Given the description of an element on the screen output the (x, y) to click on. 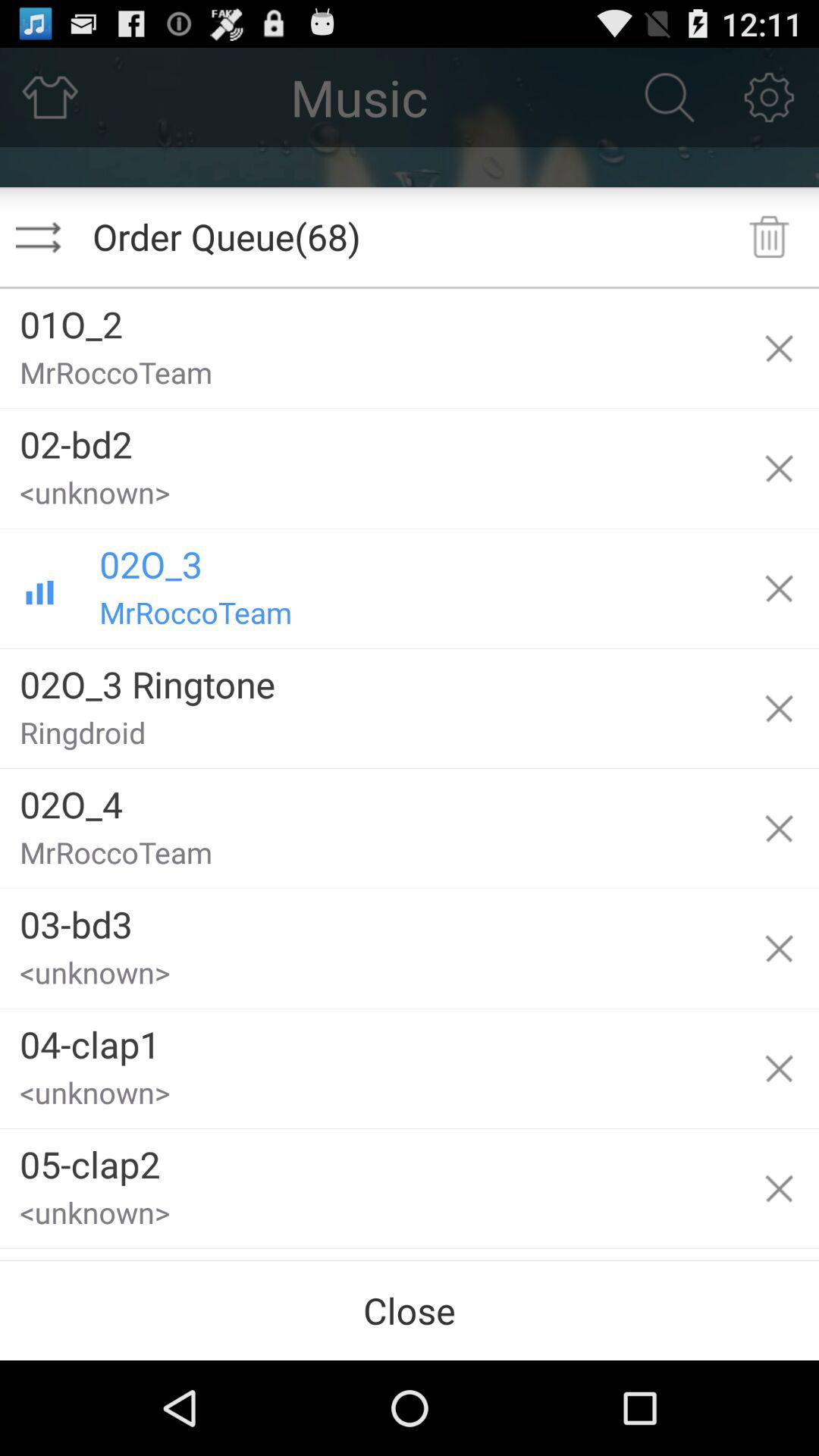
click item below <unknown> app (369, 1038)
